Given the description of an element on the screen output the (x, y) to click on. 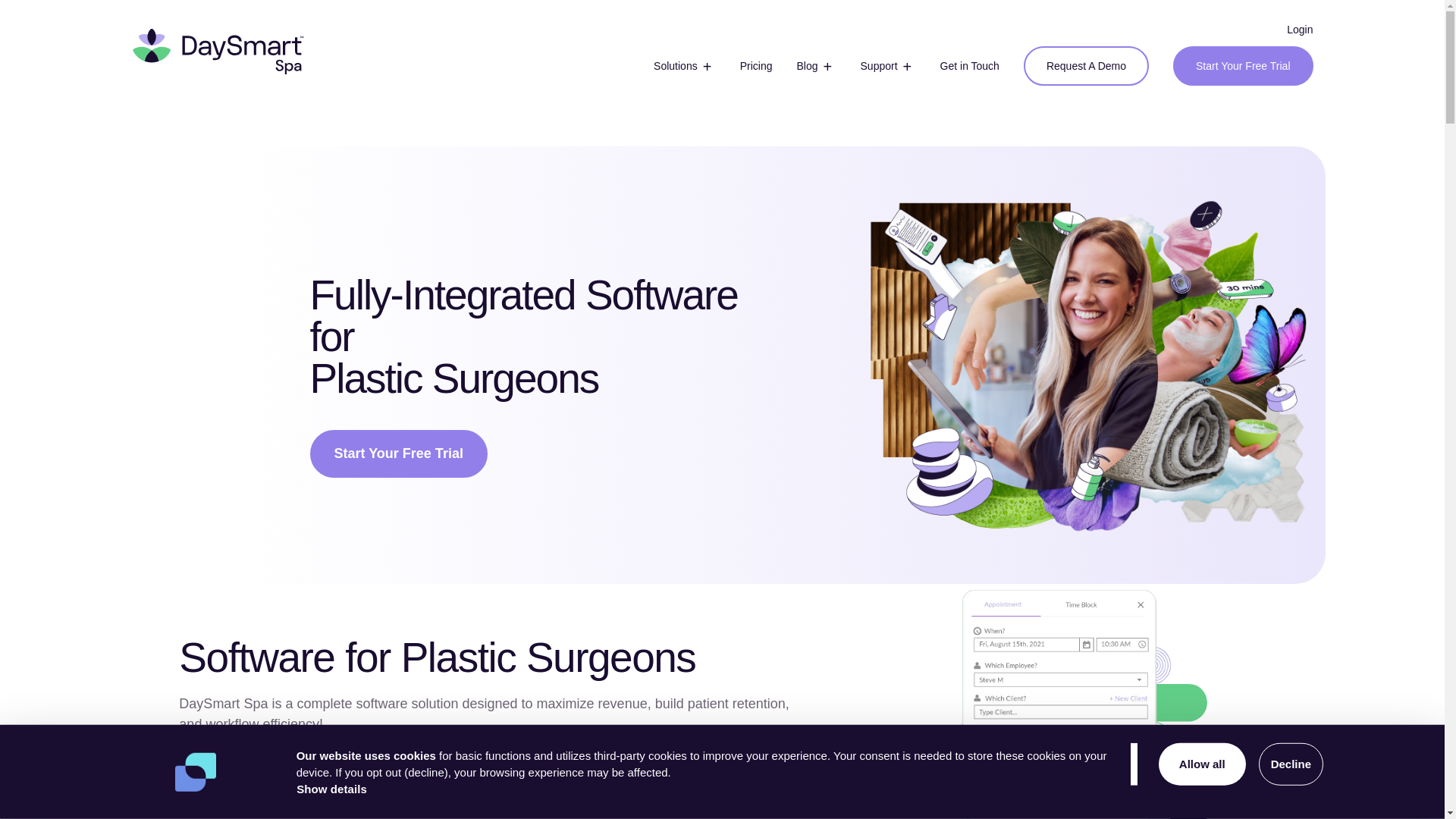
Show details (331, 789)
